Given the description of an element on the screen output the (x, y) to click on. 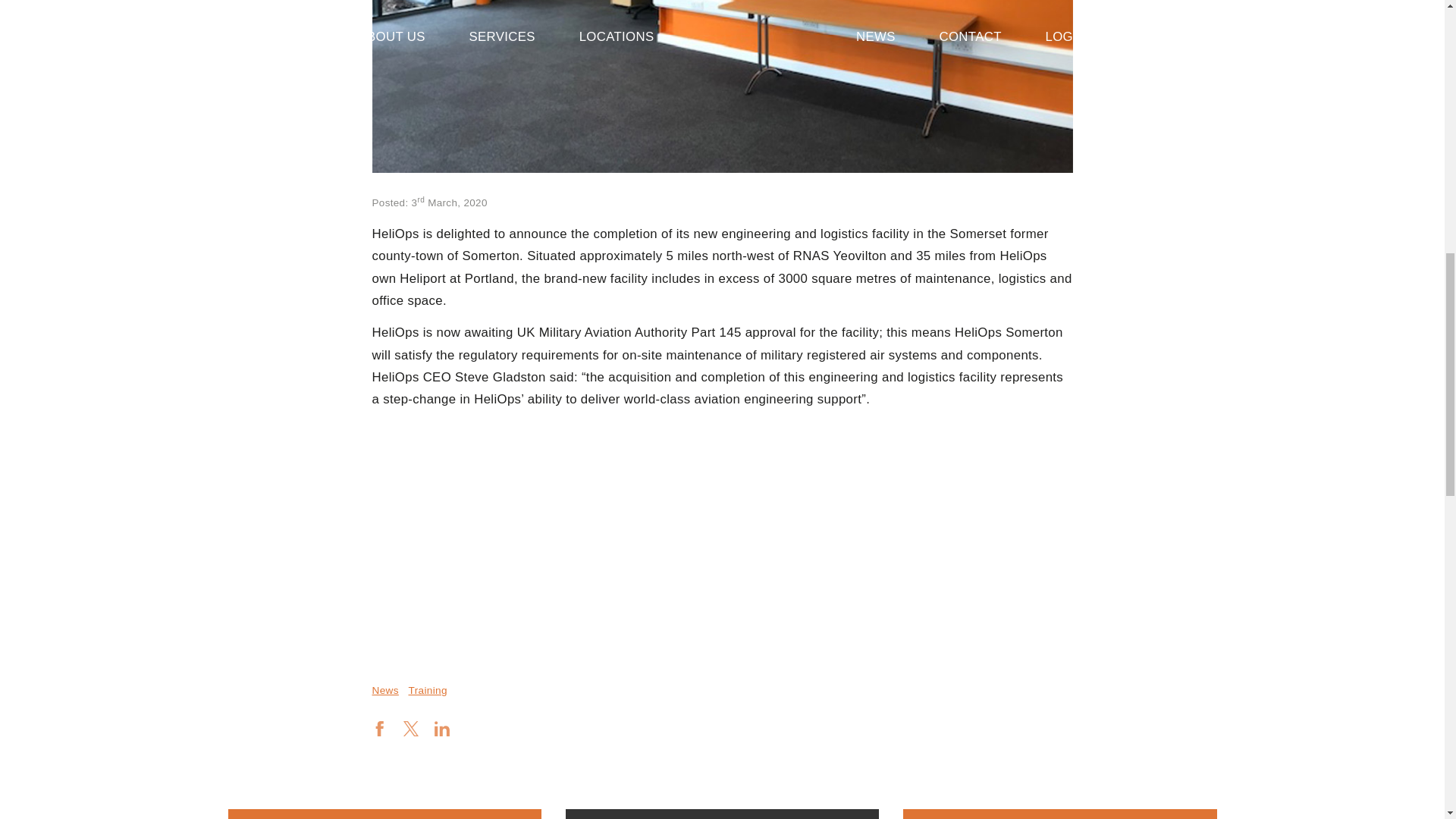
Training (426, 690)
View all posts in Training (426, 690)
News (384, 690)
View all posts in News (384, 690)
